Given the description of an element on the screen output the (x, y) to click on. 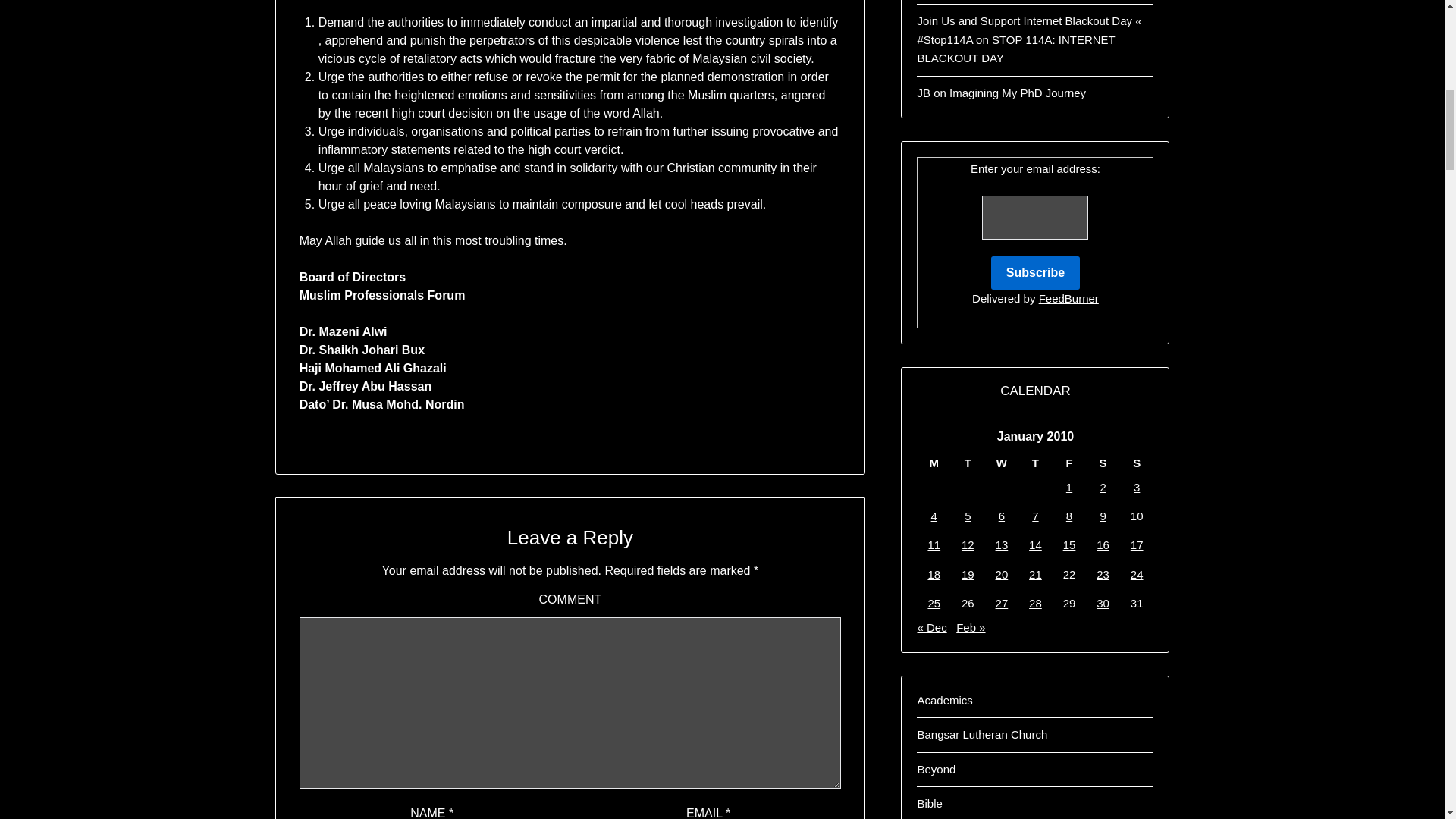
Sunday (1136, 463)
Subscribe (1035, 272)
Wednesday (1002, 463)
Saturday (1102, 463)
Monday (933, 463)
Imagining My PhD Journey (1017, 92)
Friday (1069, 463)
STOP 114A: INTERNET BLACKOUT DAY (1016, 48)
FeedBurner (1069, 297)
Thursday (1034, 463)
11 (933, 544)
Tuesday (967, 463)
Subscribe (1035, 272)
